Given the description of an element on the screen output the (x, y) to click on. 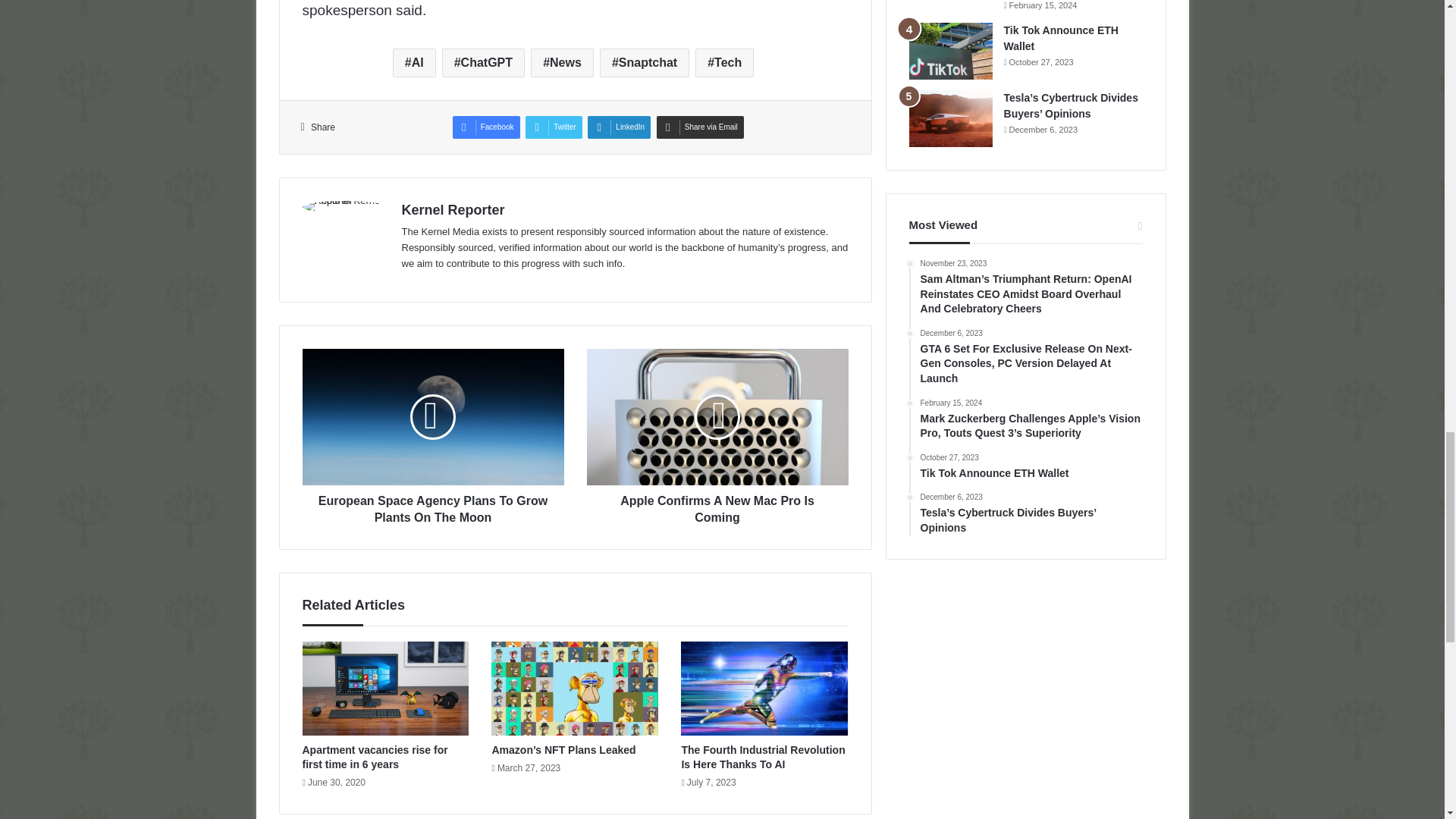
LinkedIn (619, 127)
Facebook (485, 127)
Share via Email (700, 127)
Twitter (552, 127)
